Given the description of an element on the screen output the (x, y) to click on. 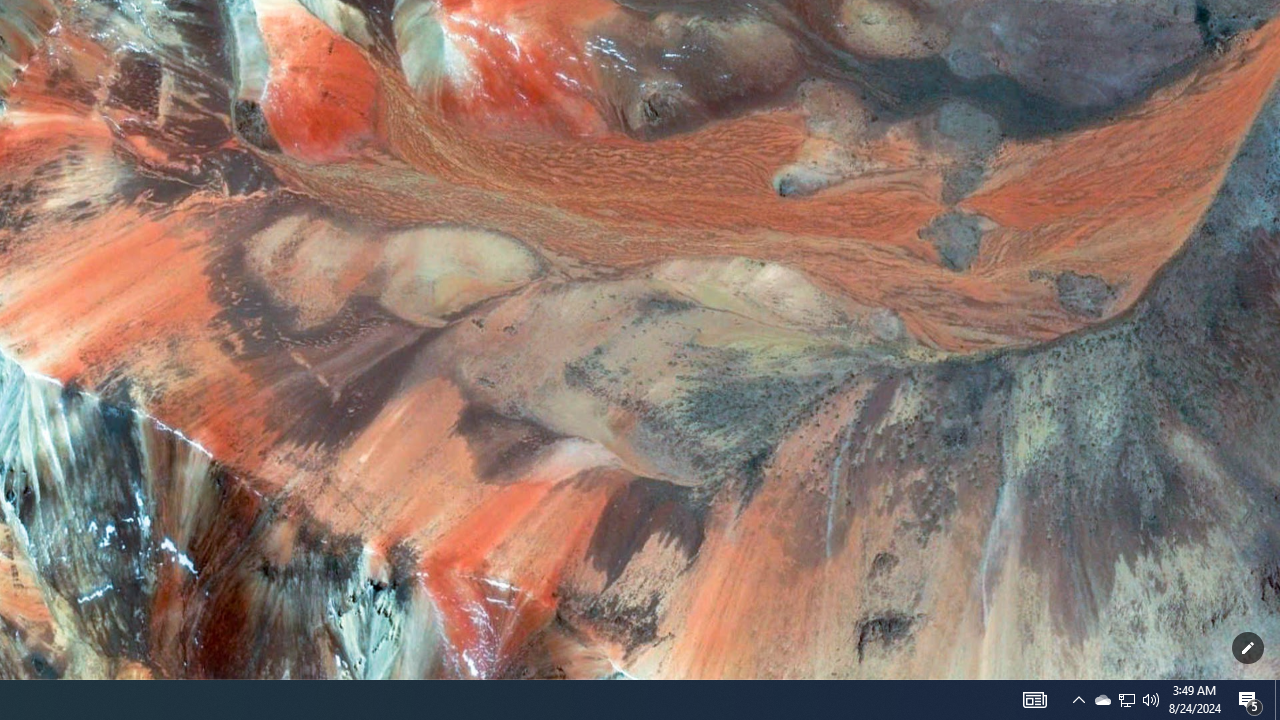
Customize this page (1247, 647)
